Given the description of an element on the screen output the (x, y) to click on. 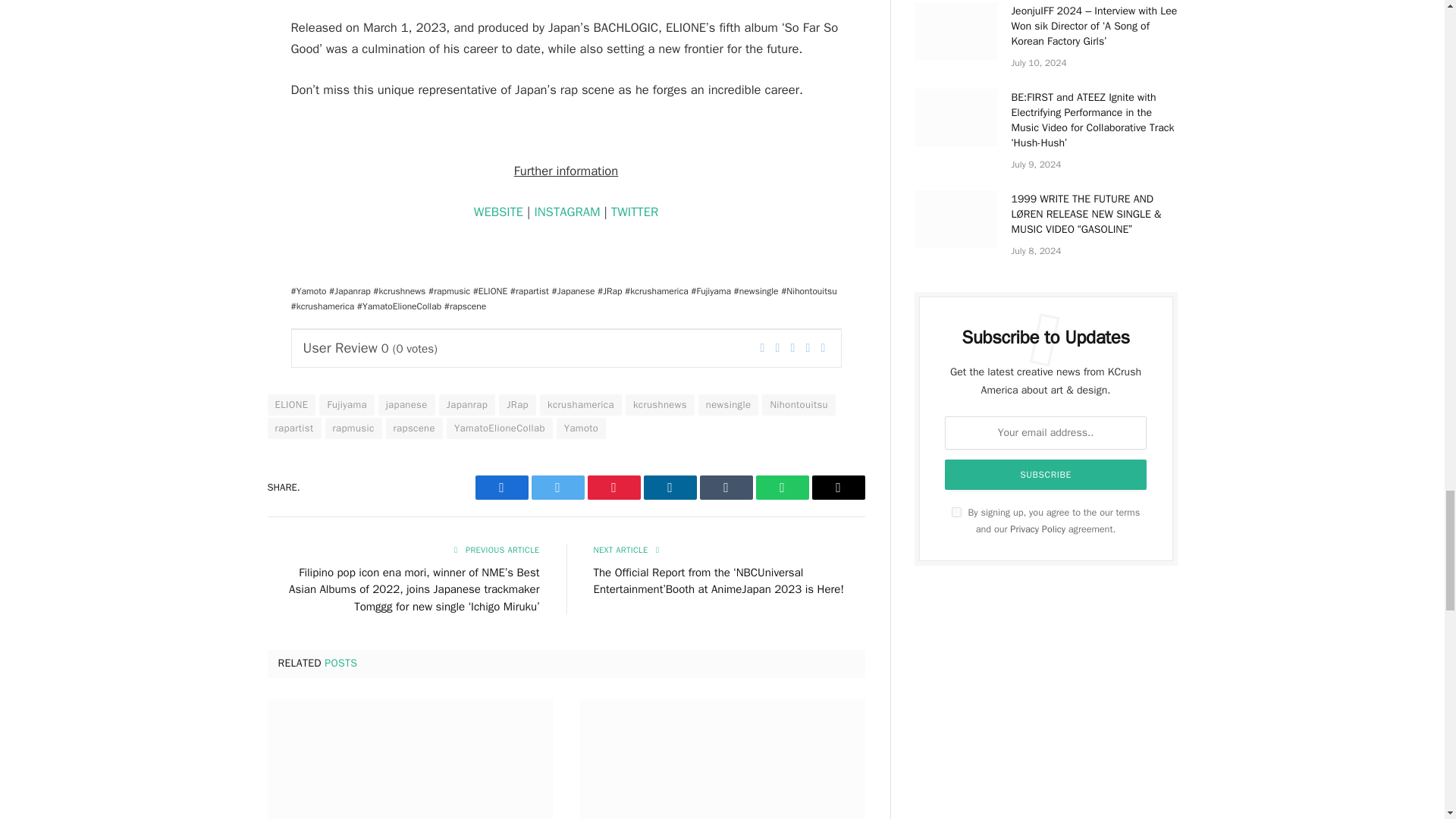
Subscribe (1045, 474)
on (956, 511)
